Given the description of an element on the screen output the (x, y) to click on. 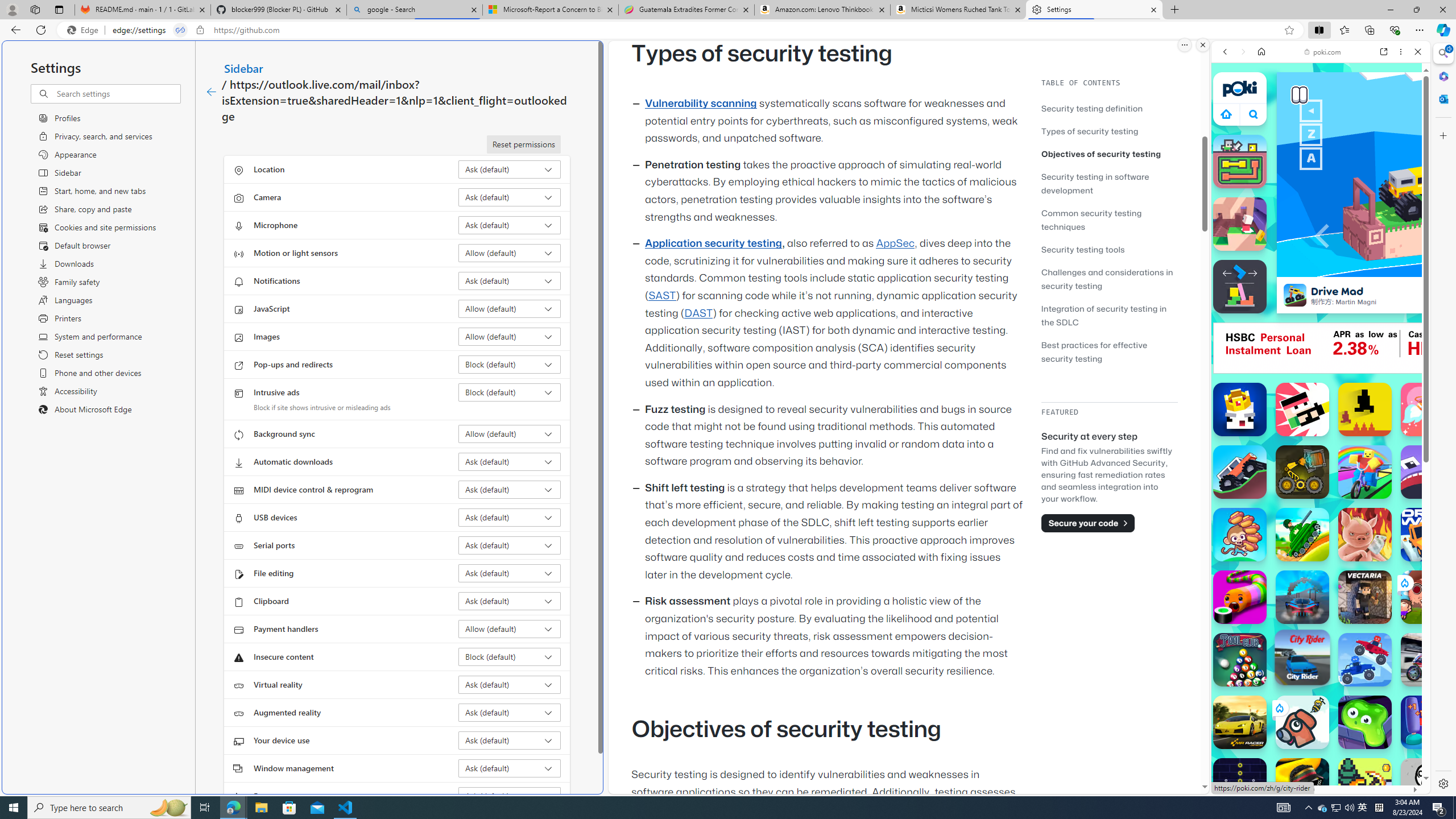
Common security testing techniques (1109, 219)
Iron Snout (1364, 534)
Search settings (117, 93)
Security testing tools (1083, 248)
Show More Car Games (1390, 268)
Battle Wheels Battle Wheels (1364, 659)
Snake.is MLG Edition (1302, 784)
City Rider City Rider (1302, 656)
Gobble (1427, 471)
Intrusive ads Block (default) (509, 392)
Sidebar (243, 67)
Save Dogogo Save Dogogo (1302, 722)
Vectaria.io (1364, 597)
